Given the description of an element on the screen output the (x, y) to click on. 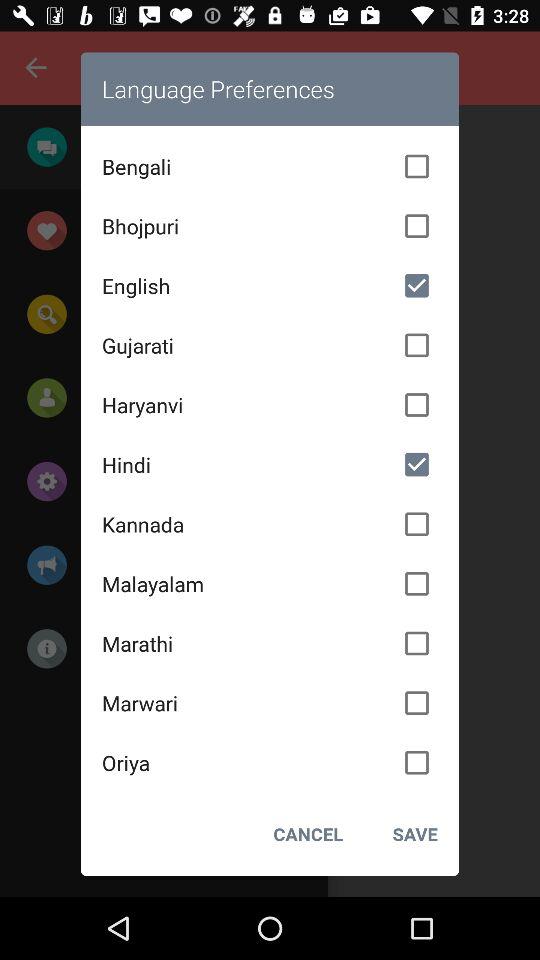
launch icon above hindi item (270, 405)
